Given the description of an element on the screen output the (x, y) to click on. 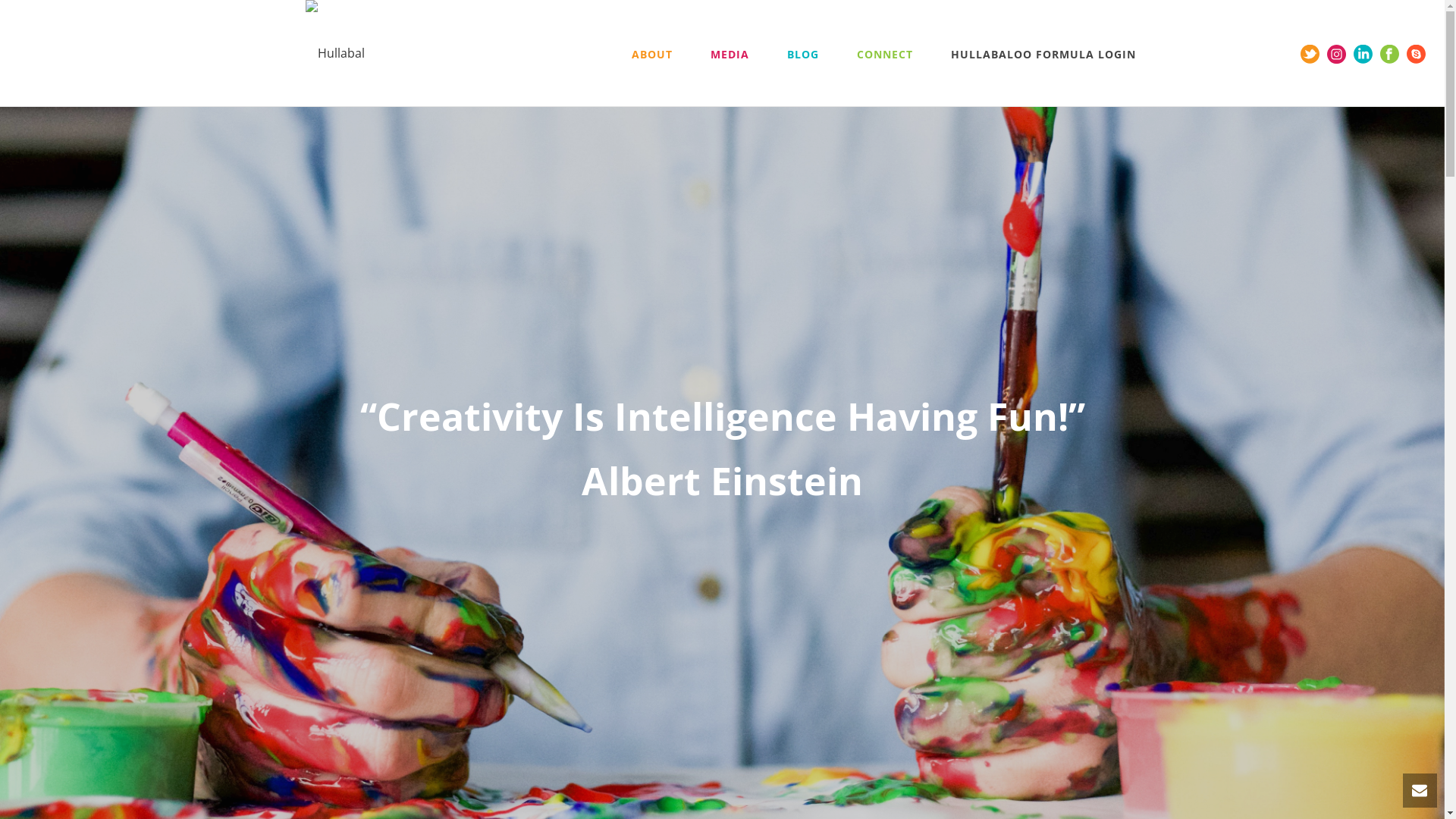
MEDIA Element type: text (729, 53)
CONNECT Element type: text (884, 53)
ABOUT Element type: text (651, 53)
HULLABALOO FORMULA LOGIN Element type: text (1042, 53)
BLOG Element type: text (802, 53)
